Given the description of an element on the screen output the (x, y) to click on. 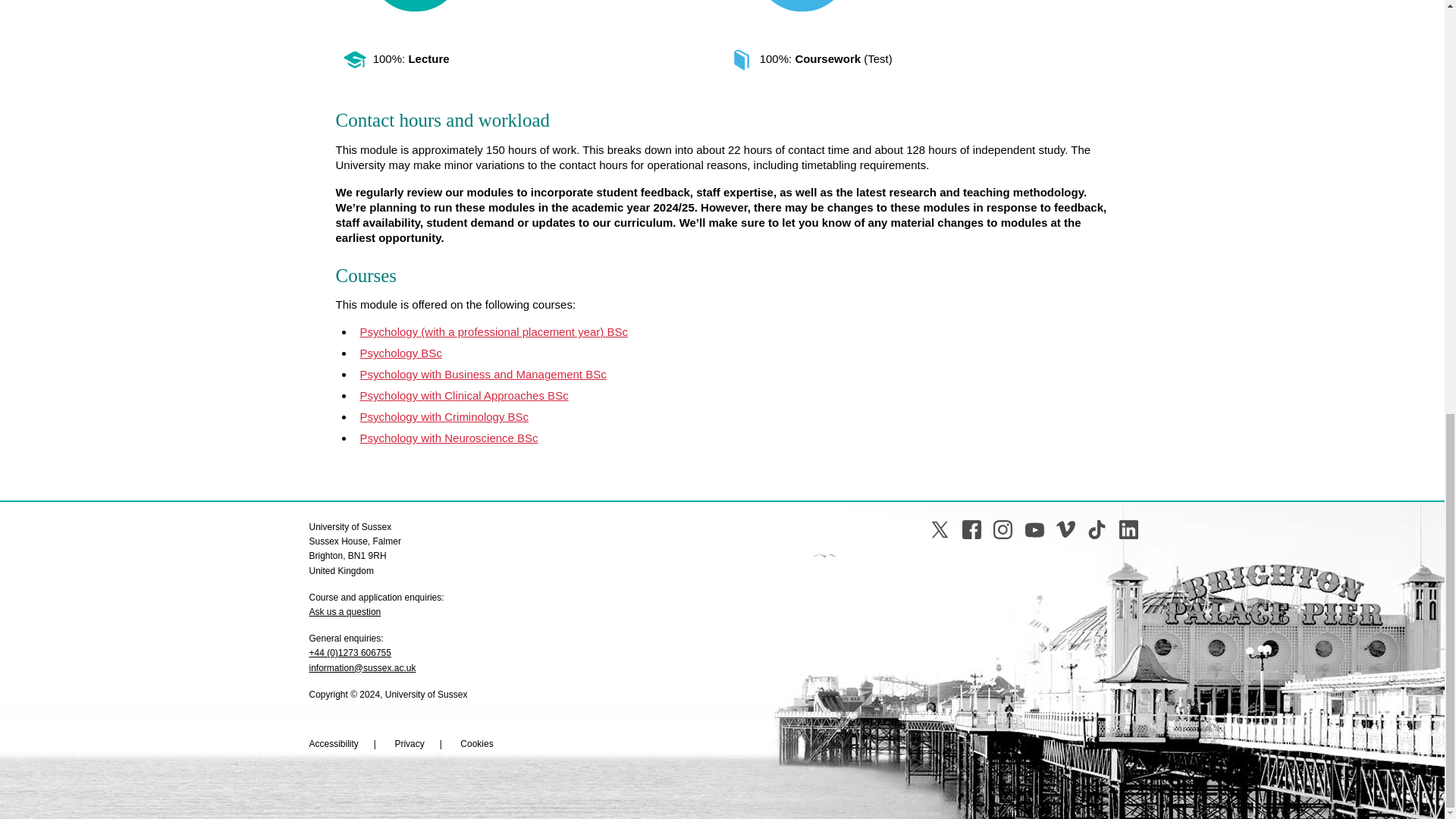
Tiktok (1096, 529)
YouTube (1034, 529)
Linkedin (1128, 529)
Vimeo (1066, 529)
Instagram (1001, 529)
Facebook (971, 529)
Twitter (939, 529)
